Given the description of an element on the screen output the (x, y) to click on. 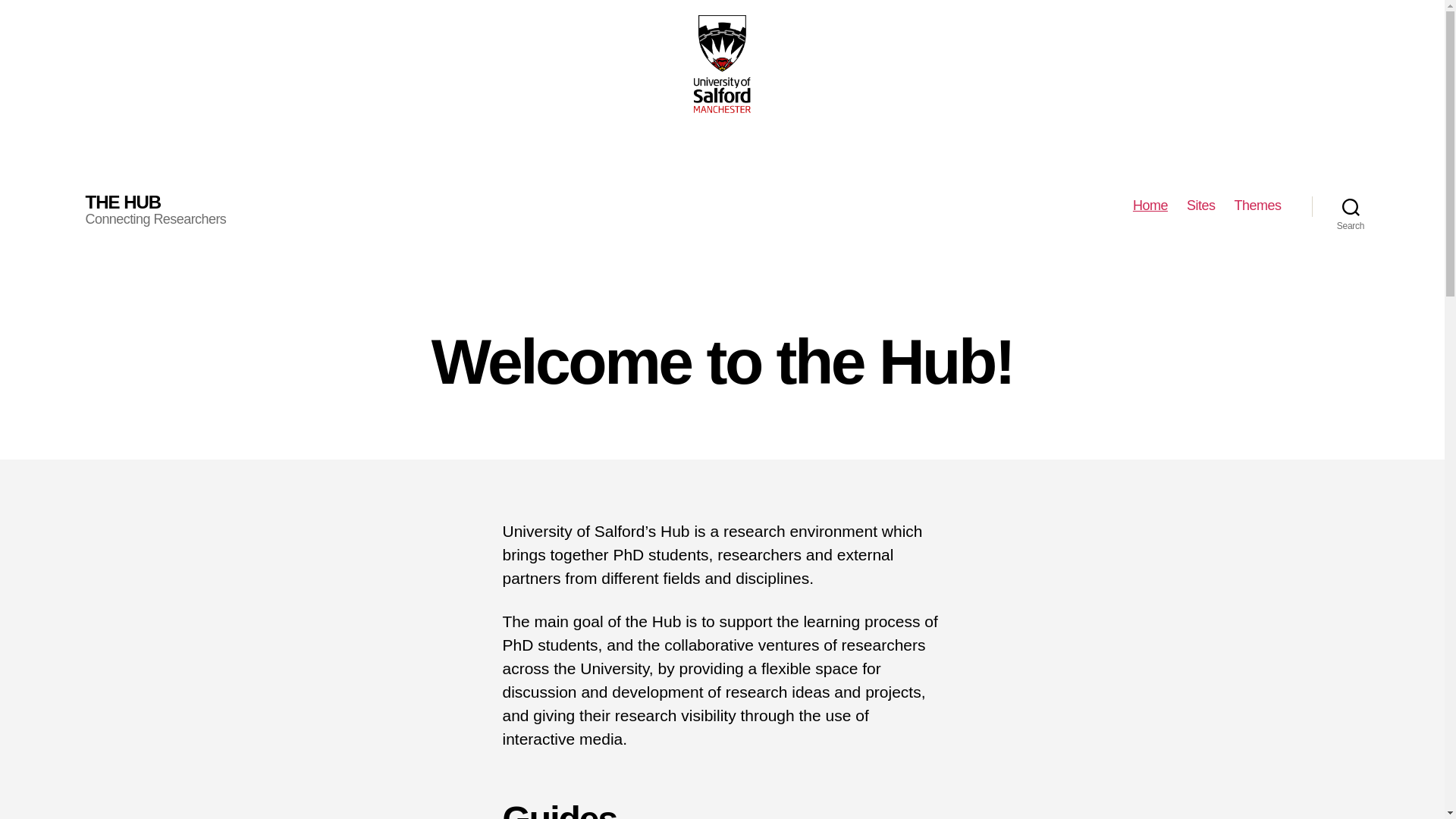
Search (1350, 205)
Home (1149, 206)
Sites (1200, 206)
THE HUB (122, 202)
Themes (1257, 206)
